Given the description of an element on the screen output the (x, y) to click on. 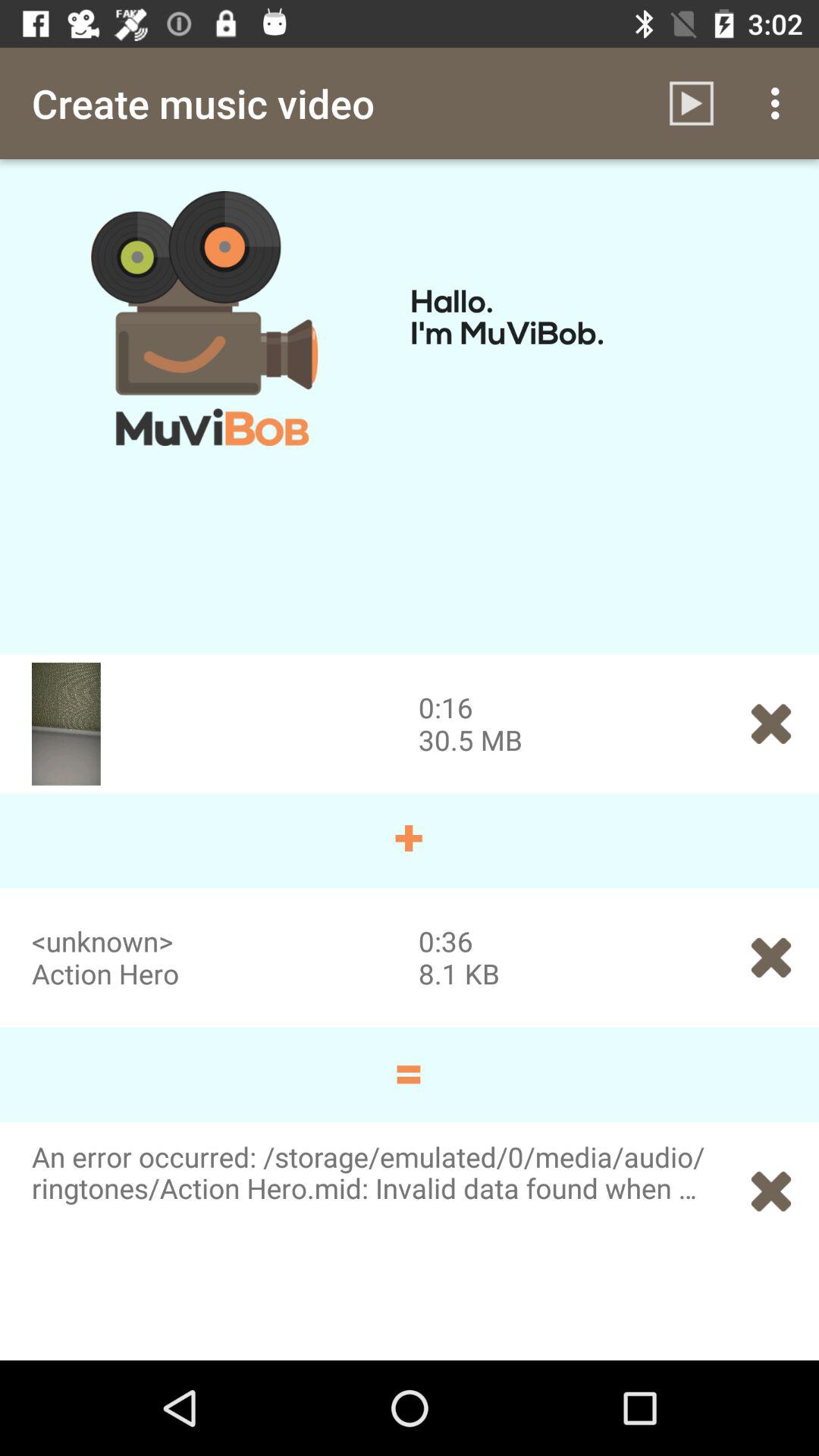
open the icon above hallo i m icon (779, 103)
